Given the description of an element on the screen output the (x, y) to click on. 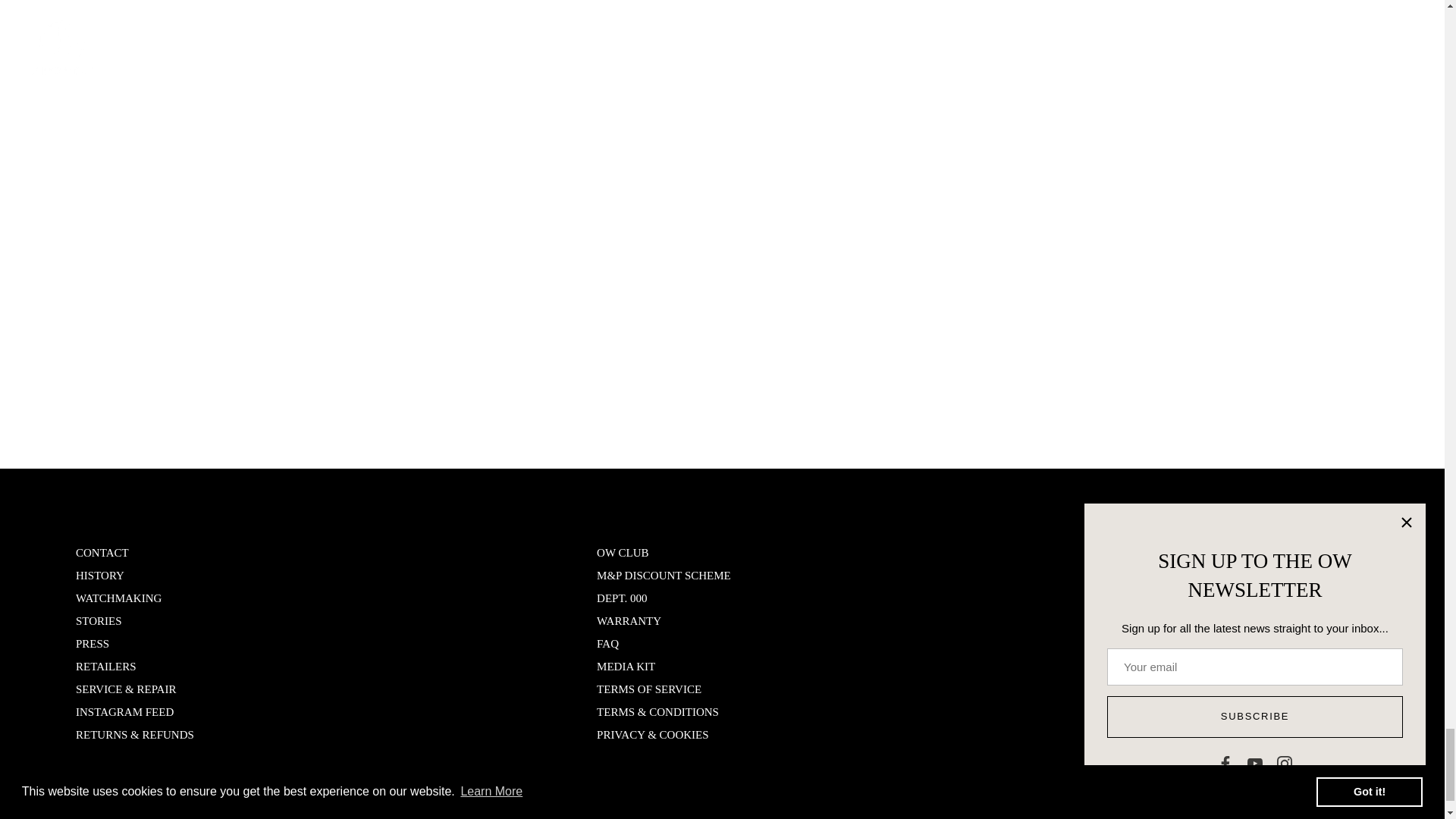
American Express (1210, 818)
RIGHT ARROW LONG (1361, 600)
Visa (1353, 818)
PayPal (1317, 818)
Mastercard (1281, 818)
Instagram (1213, 654)
Youtube (1177, 654)
Apple Pay (1245, 818)
